Given the description of an element on the screen output the (x, y) to click on. 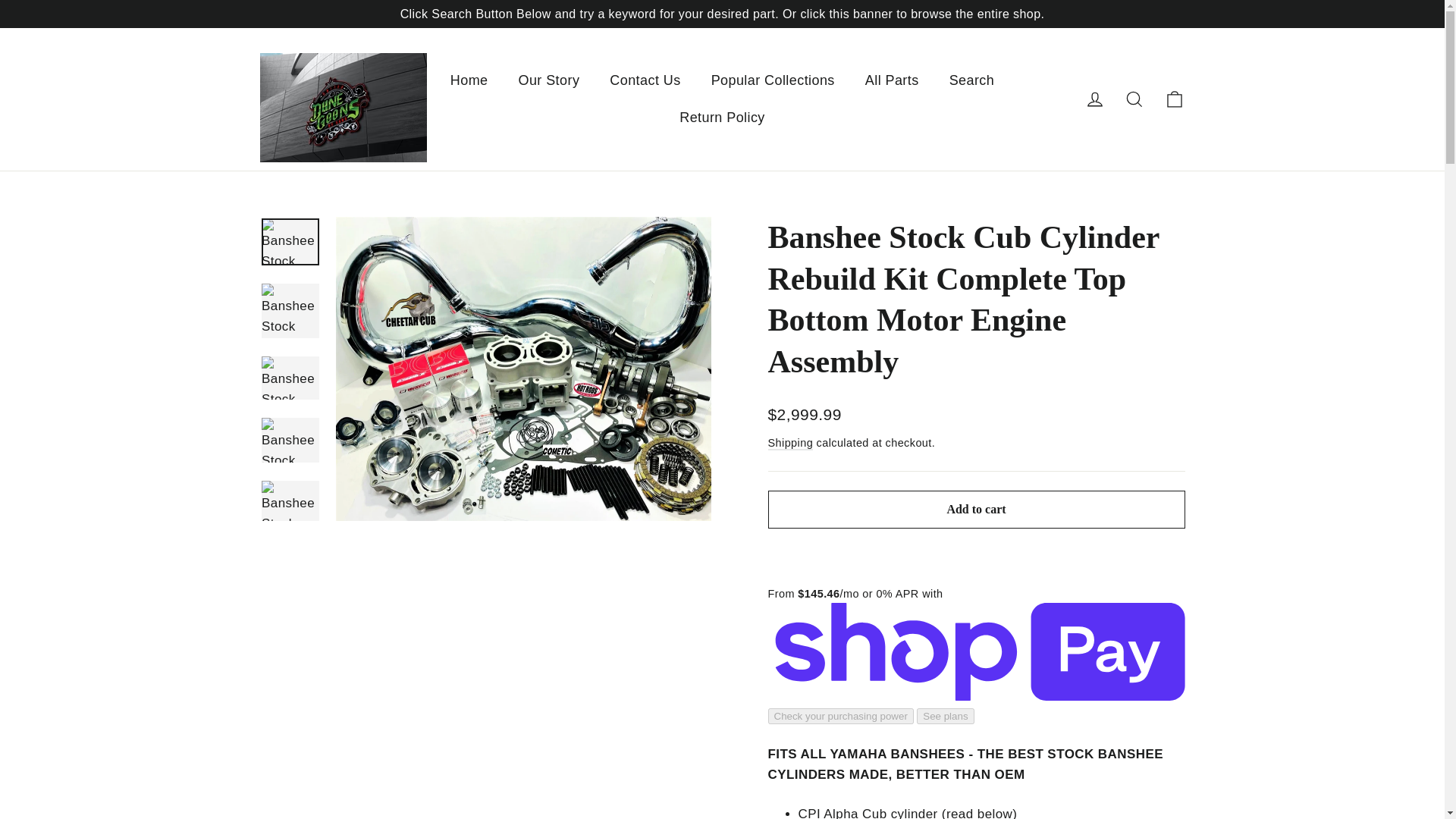
Home (469, 80)
Search (972, 80)
Return Policy (721, 117)
Contact Us (644, 80)
Cart (1173, 99)
Log in (1095, 99)
All Parts (892, 80)
Search (1134, 99)
Our Story (548, 80)
Popular Collections (772, 80)
